Given the description of an element on the screen output the (x, y) to click on. 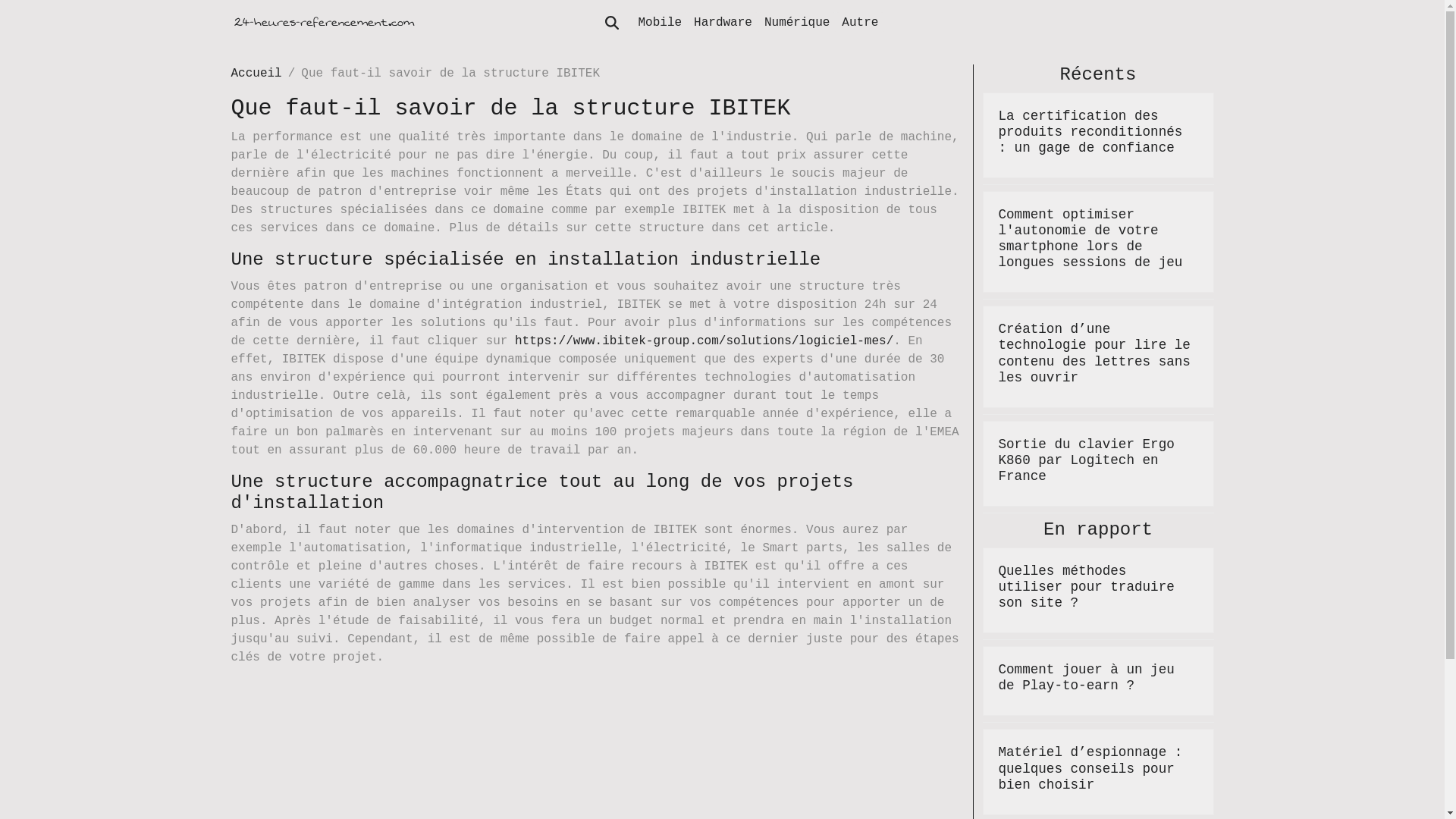
Hardware Element type: text (722, 22)
https://www.ibitek-group.com/solutions/logiciel-mes/ Element type: text (703, 341)
Sortie du clavier Ergo K860 par Logitech en France Element type: text (1085, 459)
Autre Element type: text (859, 22)
Mobile Element type: text (660, 22)
Accueil Element type: text (255, 73)
24-heures-referencement.com Element type: text (323, 22)
